Given the description of an element on the screen output the (x, y) to click on. 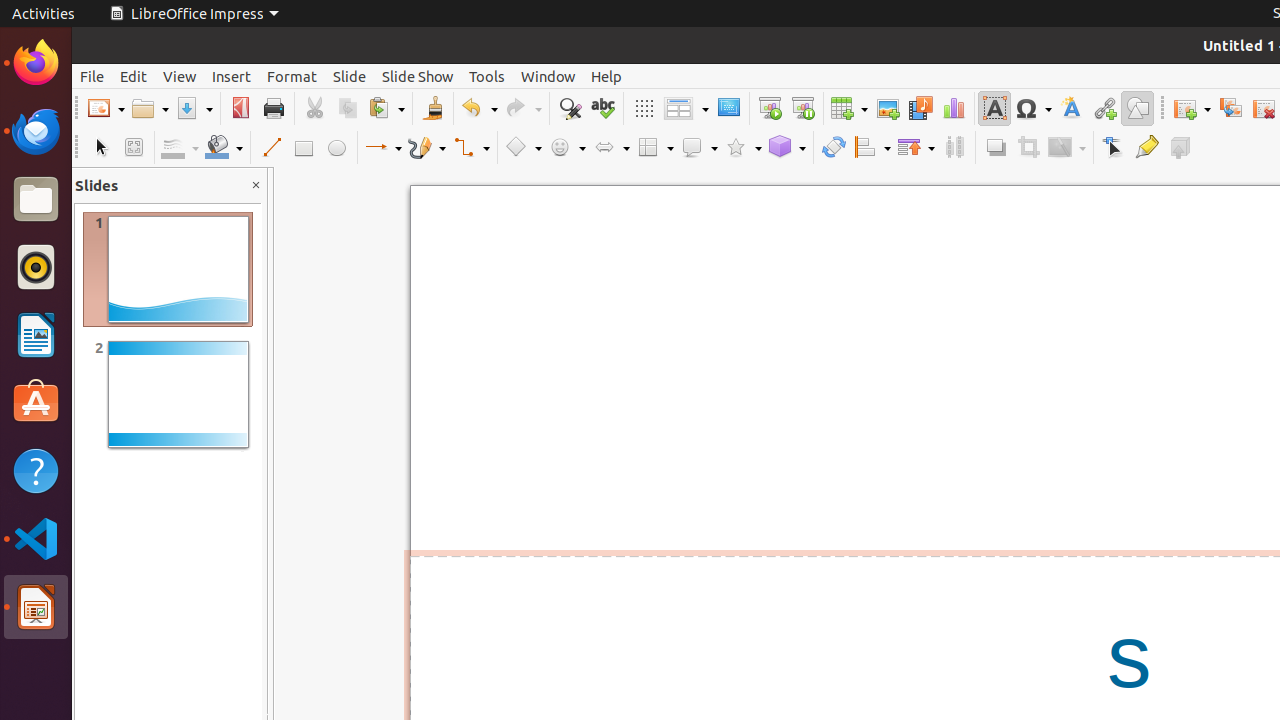
Draw Functions Element type: toggle-button (1137, 108)
Redo Element type: push-button (523, 108)
Master Slide Element type: push-button (728, 108)
Fill Color Element type: push-button (224, 147)
3D Objects Element type: push-button (787, 147)
